Given the description of an element on the screen output the (x, y) to click on. 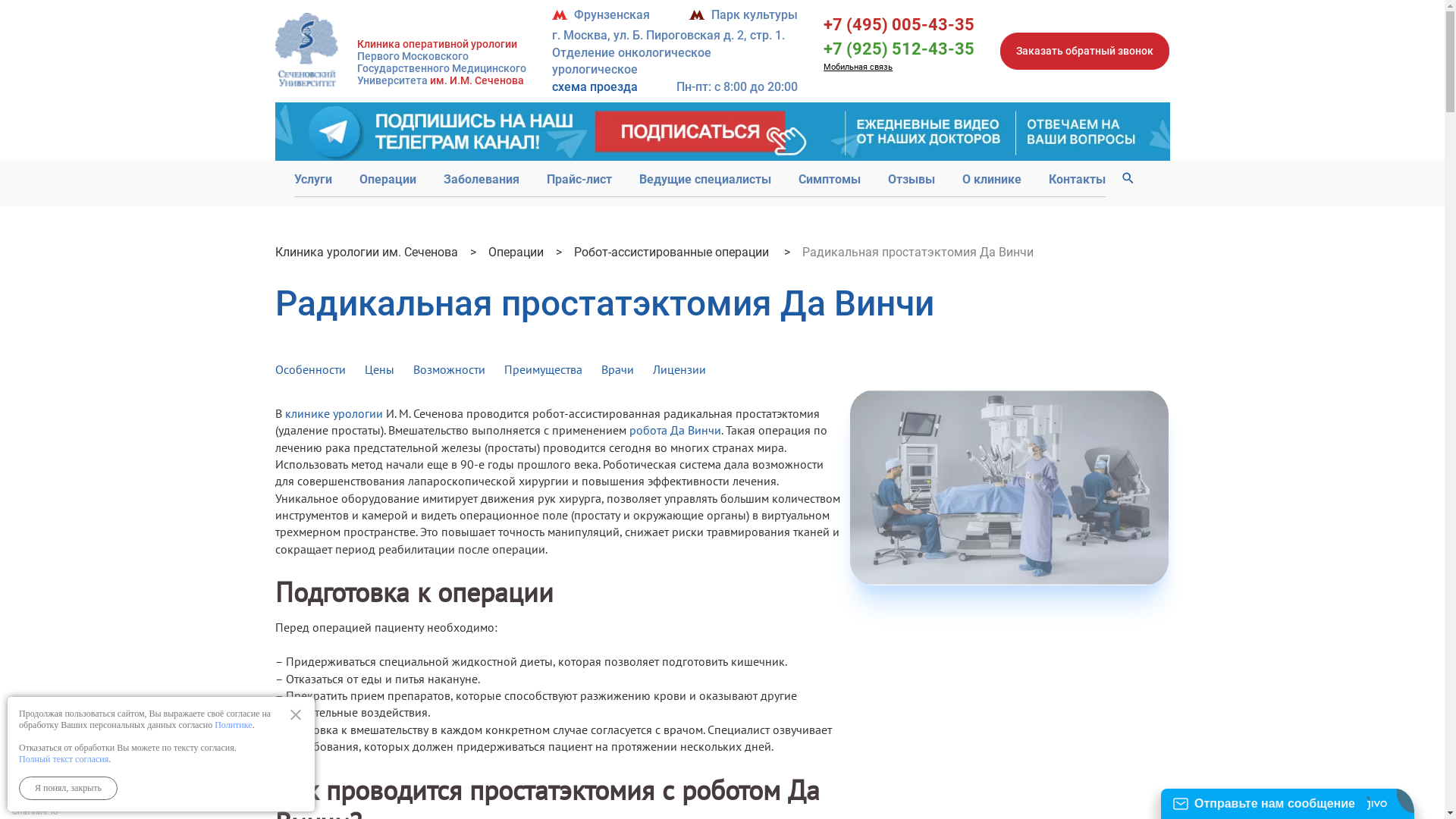
+7 (925) 512-43-35 Element type: text (898, 48)
+7 (495) 005-43-35 Element type: text (898, 24)
